Given the description of an element on the screen output the (x, y) to click on. 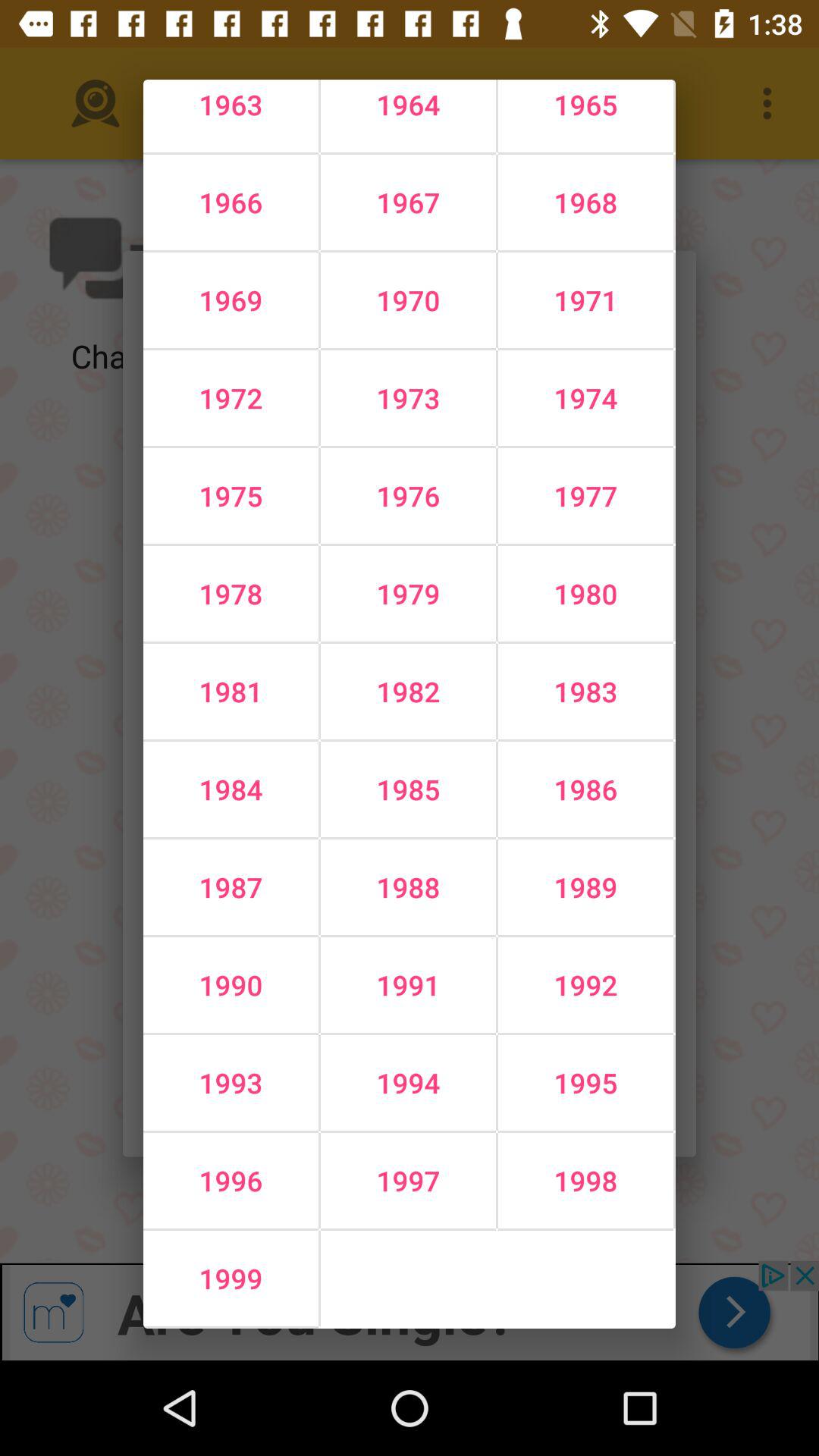
select icon to the right of 1964 icon (585, 202)
